Given the description of an element on the screen output the (x, y) to click on. 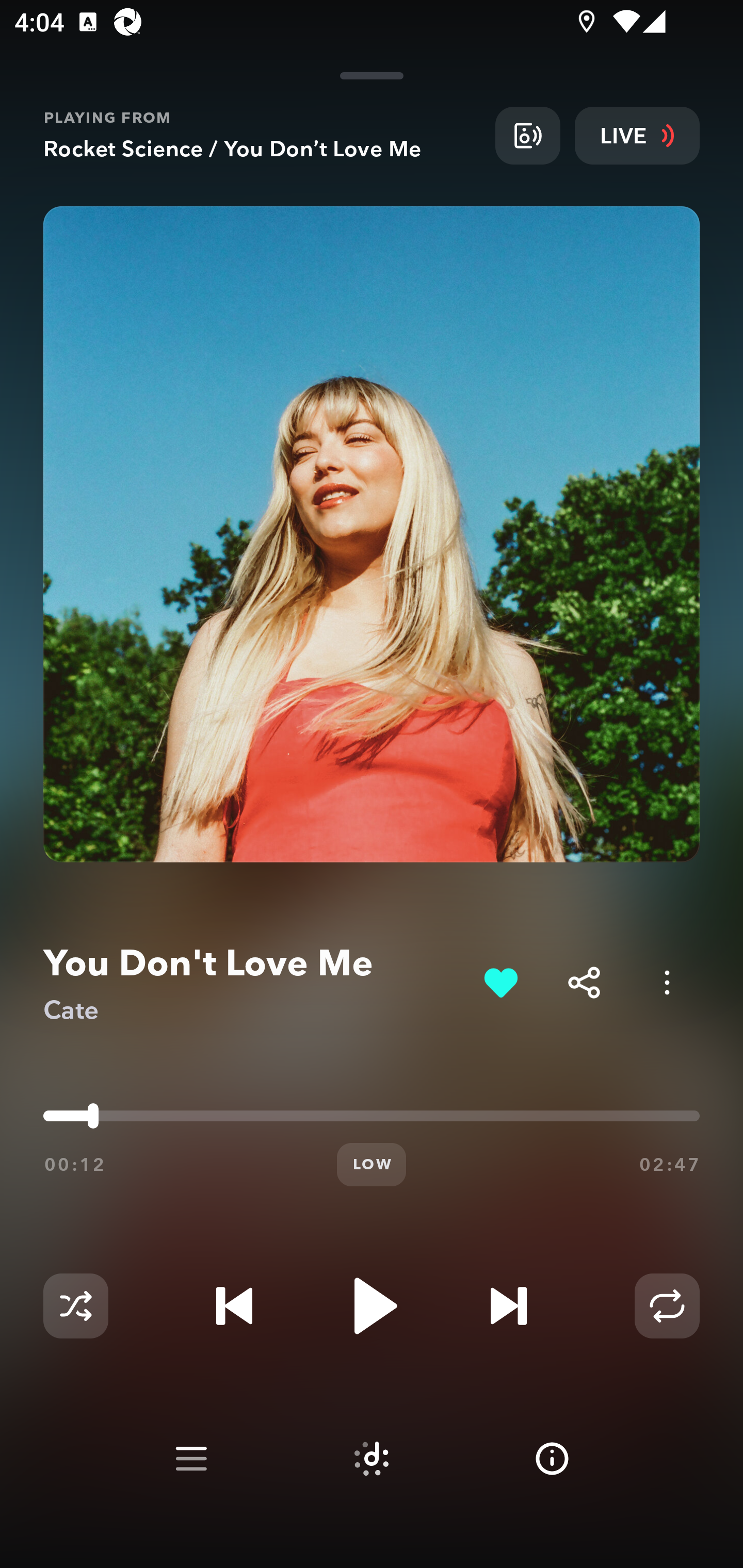
Broadcast (527, 135)
LIVE (637, 135)
PLAYING FROM Rocket Science / You Don’t Love Me (261, 135)
You Don't Love Me Cate (255, 983)
Remove from My Collection (500, 982)
Share (583, 982)
Options (666, 982)
LOW (371, 1164)
Play (371, 1306)
Previous (234, 1306)
Next (508, 1306)
Shuffle enabled (75, 1306)
Repeat All (666, 1306)
Play queue (191, 1458)
Suggested tracks (371, 1458)
Info (551, 1458)
